Given the description of an element on the screen output the (x, y) to click on. 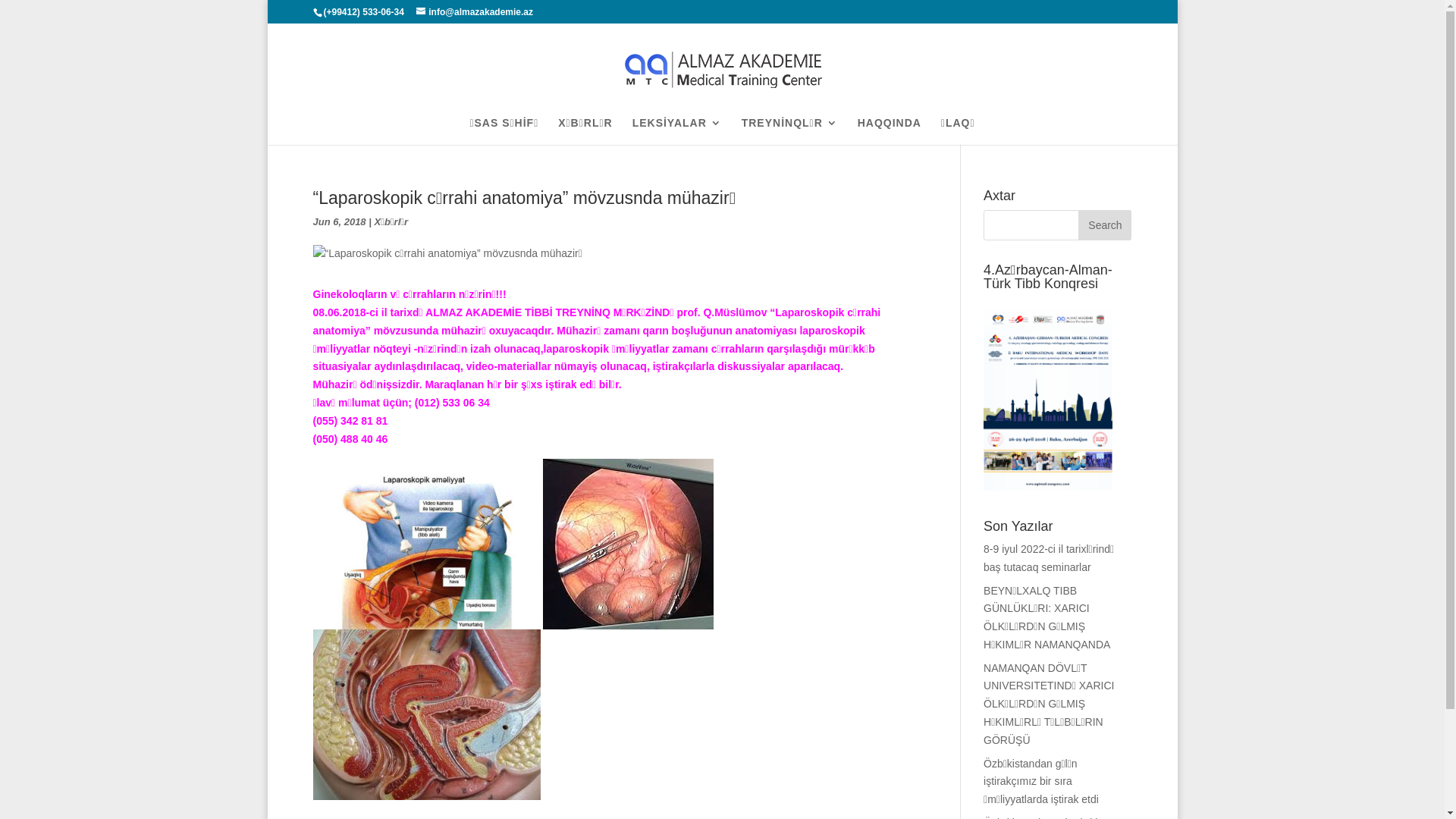
HAQQINDA Element type: text (889, 130)
info@almazakademie.az Element type: text (474, 11)
Search Element type: text (1104, 225)
